Given the description of an element on the screen output the (x, y) to click on. 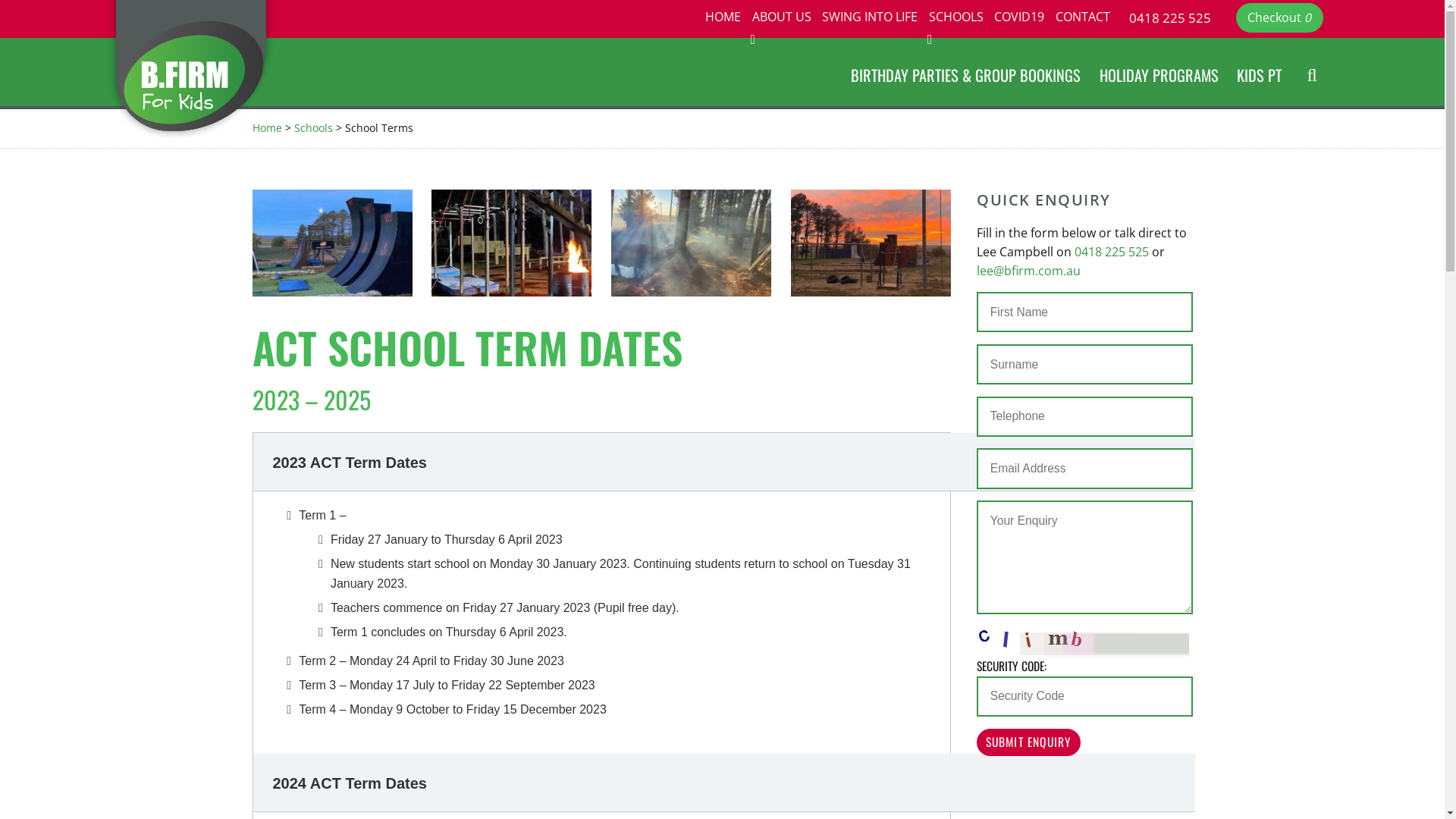
0418 225 525 Element type: text (1169, 17)
HOLIDAY PROGRAMS Element type: text (1158, 74)
Schools Element type: text (313, 127)
HOME Element type: text (722, 17)
2023 ACT Term Dates Element type: text (724, 462)
CONTACT Element type: text (1083, 17)
SWING INTO LIFE Element type: text (869, 17)
Checkout 0 Element type: text (1279, 17)
0418 225 525 Element type: text (1111, 251)
SCHOOLS Element type: text (955, 17)
ABOUT US Element type: text (781, 17)
Home Element type: text (266, 127)
COVID19 Element type: text (1019, 17)
BIRTHDAY PARTIES & GROUP BOOKINGS Element type: text (965, 74)
Submit Enquiry Element type: text (1028, 742)
lee@bfirm.com.au Element type: text (1028, 270)
2024 ACT Term Dates Element type: text (724, 782)
KIDS PT Element type: text (1259, 74)
